Given the description of an element on the screen output the (x, y) to click on. 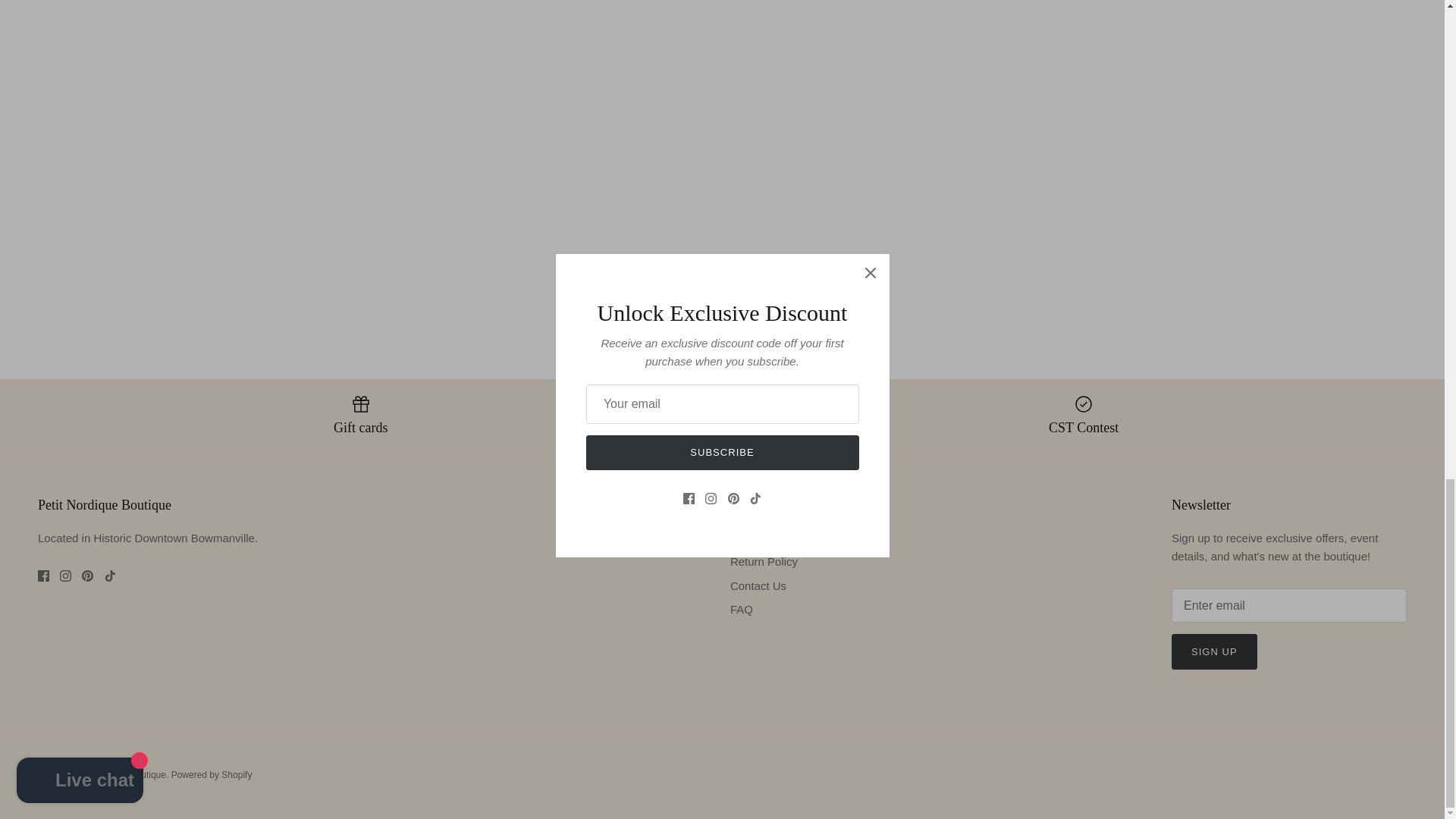
Instagram (65, 575)
Facebook (43, 575)
Pinterest (87, 575)
